Given the description of an element on the screen output the (x, y) to click on. 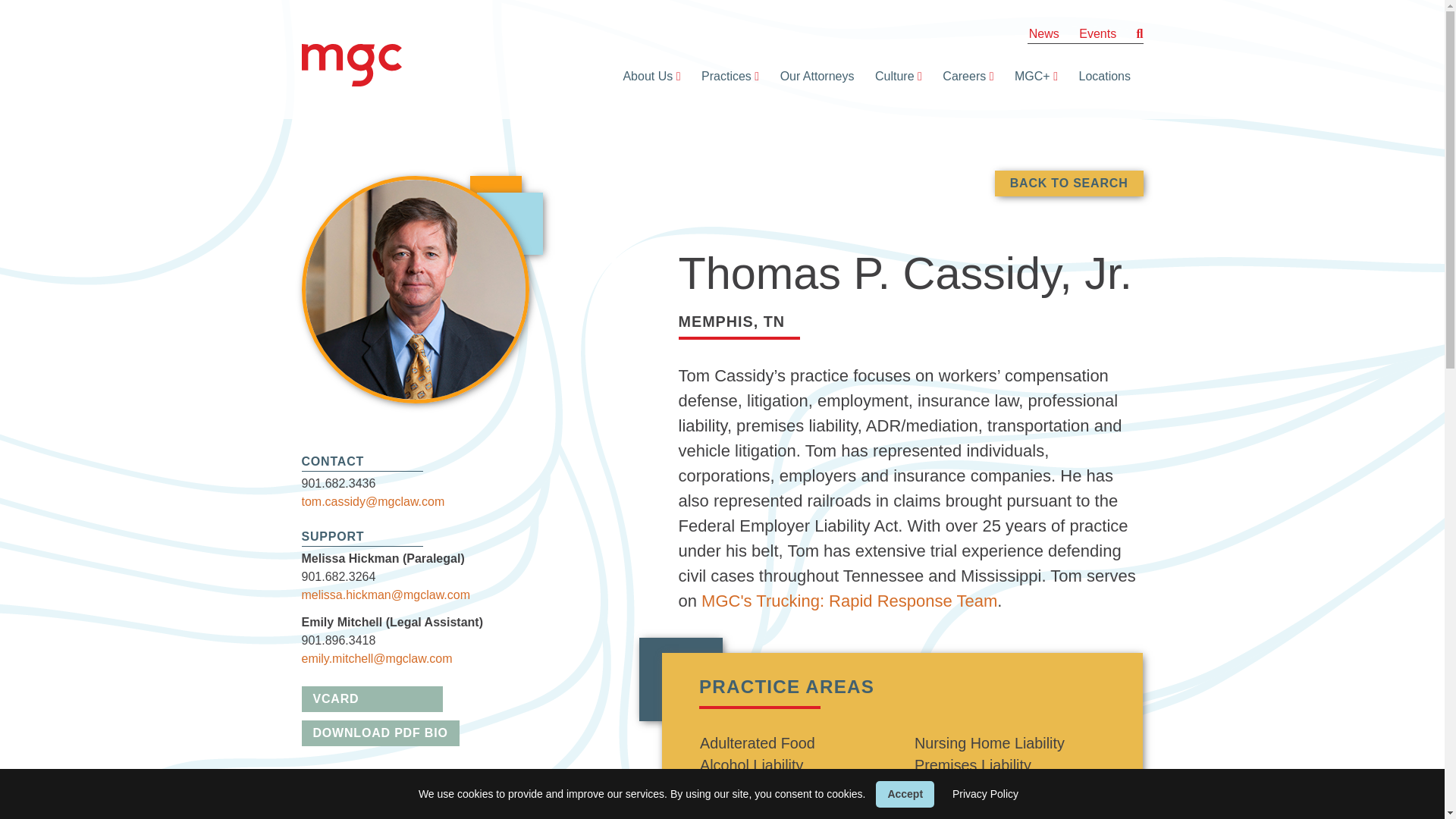
Culture (890, 76)
BACK TO SEARCH (1068, 183)
901.682.3264 (338, 576)
901.682.3436 (338, 481)
Events (1097, 33)
About Us (643, 76)
Practices (722, 76)
901.896.3418 (338, 640)
Our Attorneys (812, 76)
News (1044, 33)
Locations (1100, 76)
Careers (959, 76)
